Given the description of an element on the screen output the (x, y) to click on. 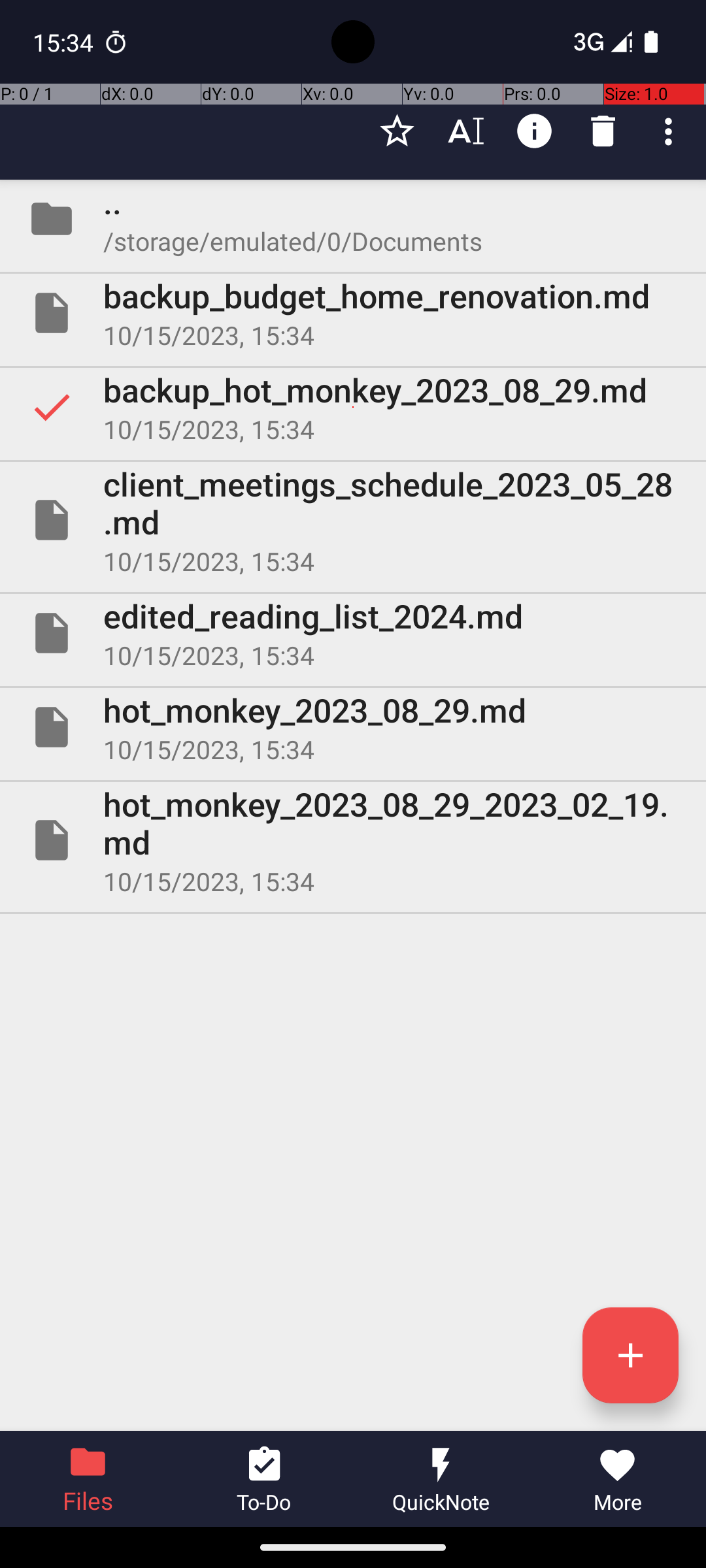
Favourite Element type: android.widget.TextView (396, 131)
File backup_budget_home_renovation.md  Element type: android.widget.LinearLayout (353, 312)
Selected backup_hot_monkey_2023_08_29.md  Element type: android.widget.LinearLayout (353, 406)
File client_meetings_schedule_2023_05_28.md  Element type: android.widget.LinearLayout (353, 519)
File edited_reading_list_2024.md  Element type: android.widget.LinearLayout (353, 632)
File hot_monkey_2023_08_29.md  Element type: android.widget.LinearLayout (353, 726)
File hot_monkey_2023_08_29_2023_02_19.md  Element type: android.widget.LinearLayout (353, 840)
